Given the description of an element on the screen output the (x, y) to click on. 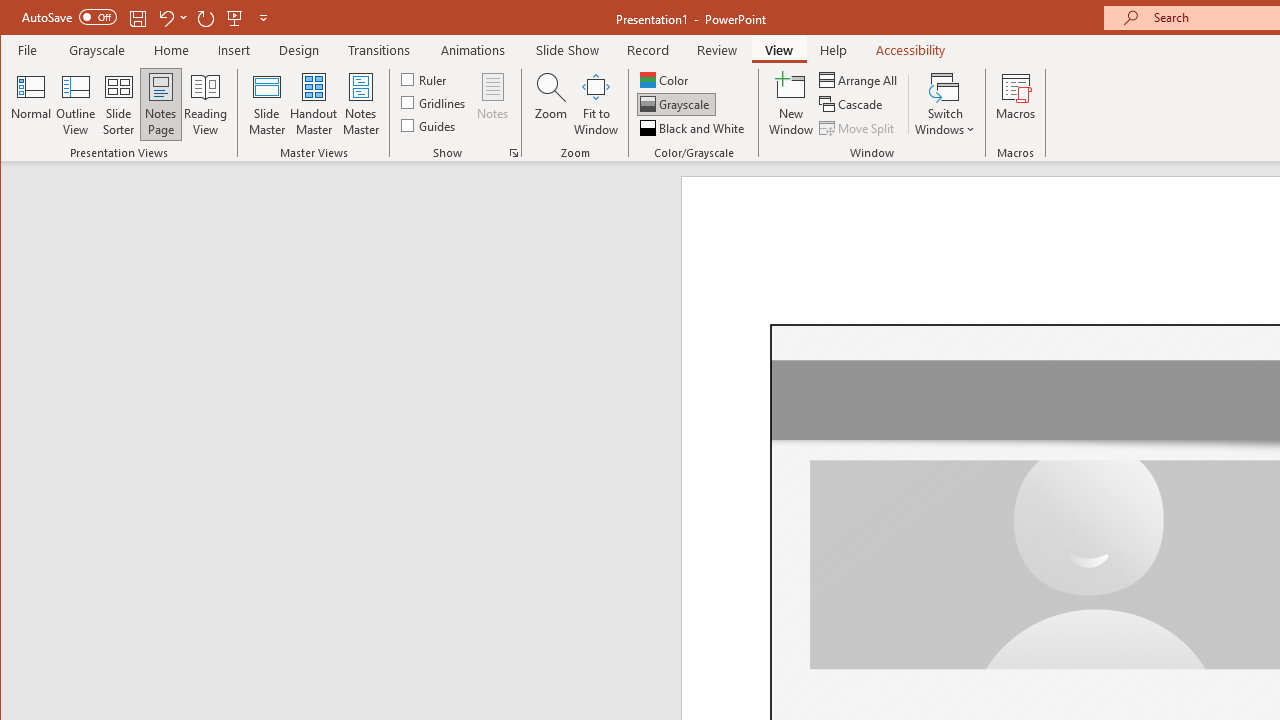
Arrange All (859, 80)
Switch Windows (944, 104)
Notes Master (360, 104)
Notes Page (160, 104)
New Window (791, 104)
Move Split (858, 127)
Color (666, 80)
Grayscale (676, 103)
Handout Master (314, 104)
